Given the description of an element on the screen output the (x, y) to click on. 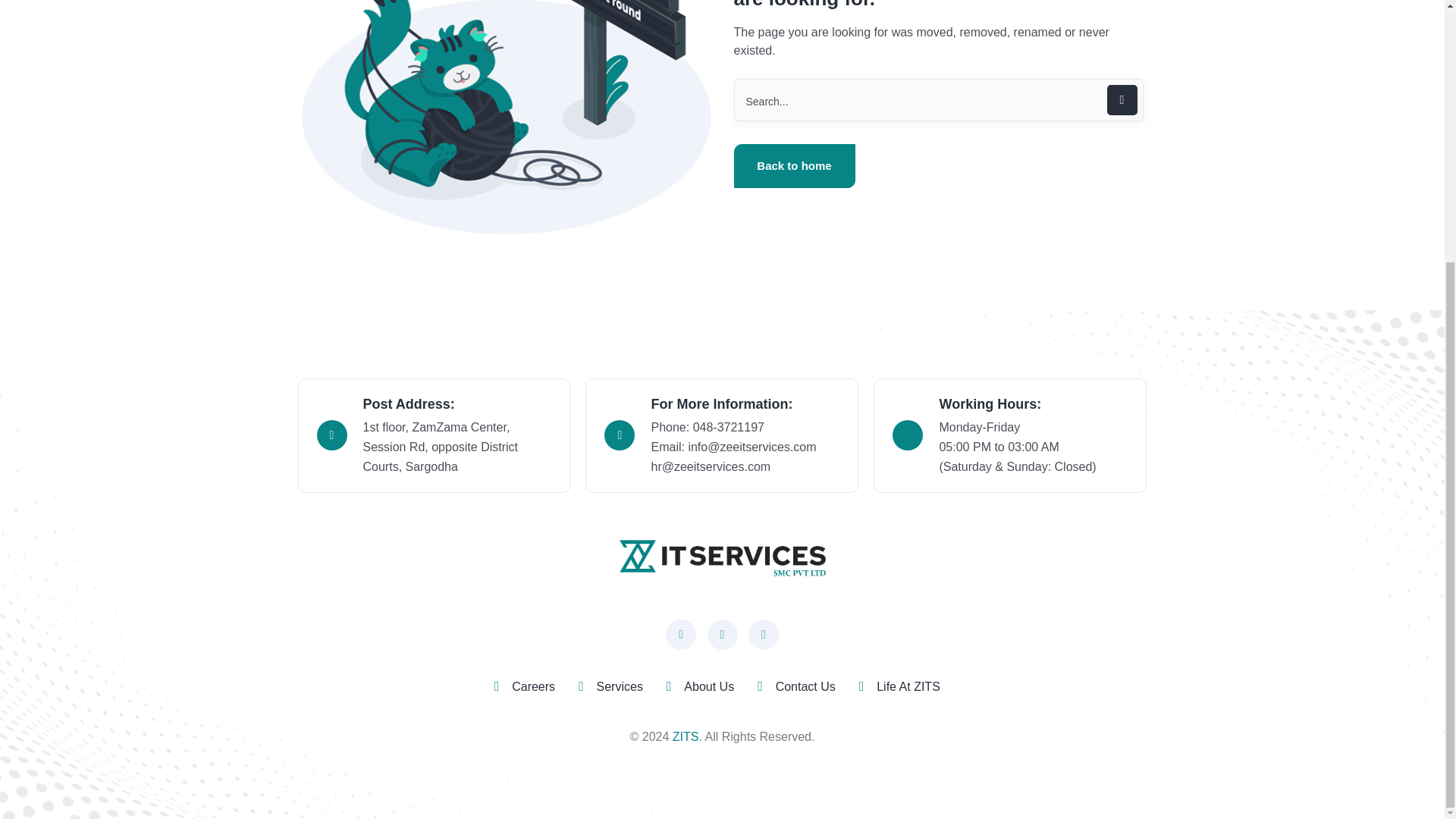
Back to home (794, 166)
Life At ZITS (908, 687)
Careers (533, 687)
About Us (708, 687)
Search (937, 99)
Services (619, 687)
ZITS (685, 736)
Contact Us (805, 687)
